Given the description of an element on the screen output the (x, y) to click on. 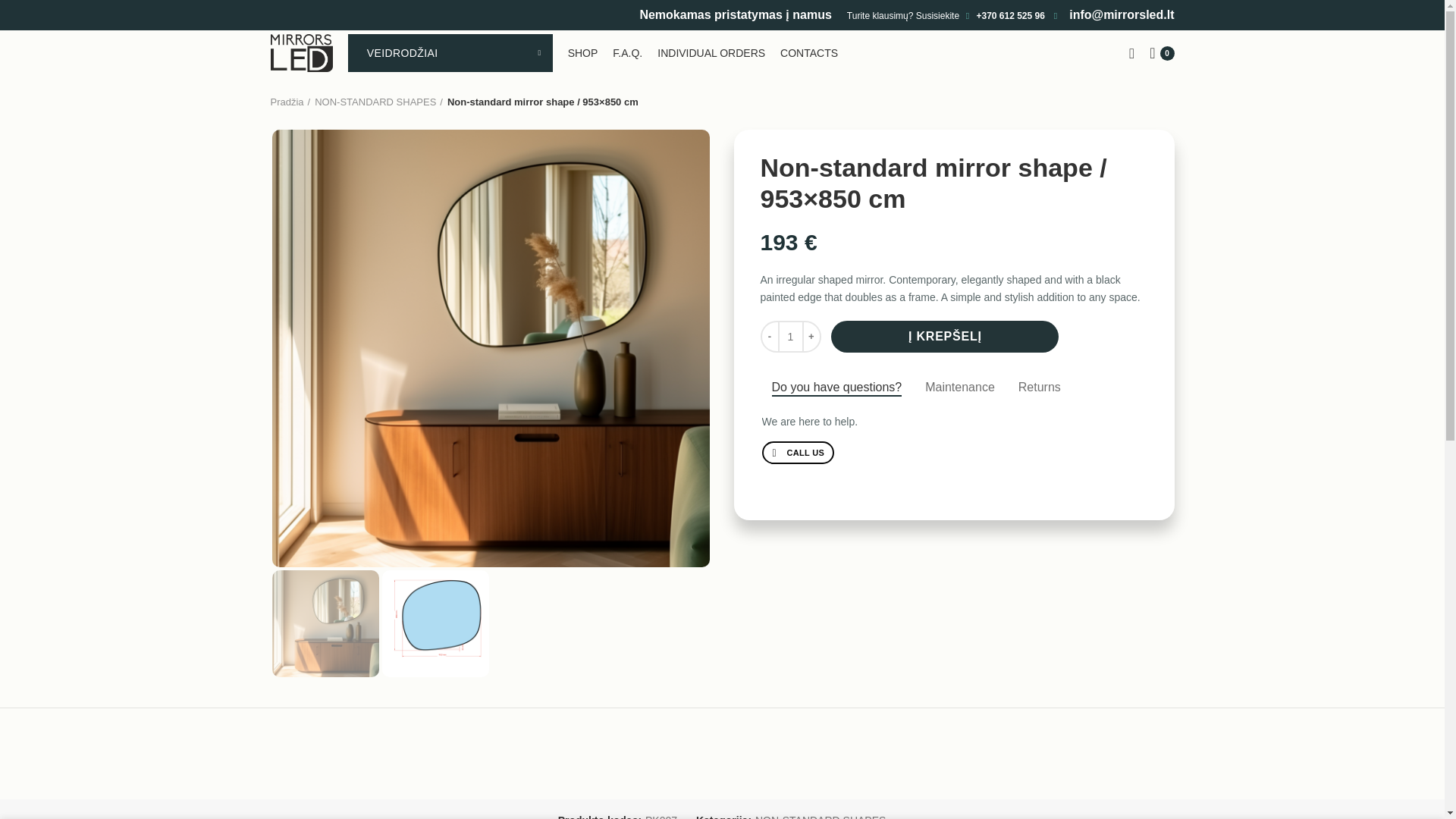
CALL US (797, 452)
Returns (1039, 387)
Kiekis (790, 336)
Search (1131, 52)
CONTACTS (809, 52)
0 (1160, 52)
F.A.Q. (627, 52)
1 (790, 336)
953x850 (435, 623)
NON-STANDARD SHAPES (378, 102)
SHOP (582, 52)
INDIVIDUAL ORDERS (711, 52)
Do you have questions? (836, 387)
- (769, 336)
NON-STANDARD SHAPES (820, 816)
